Given the description of an element on the screen output the (x, y) to click on. 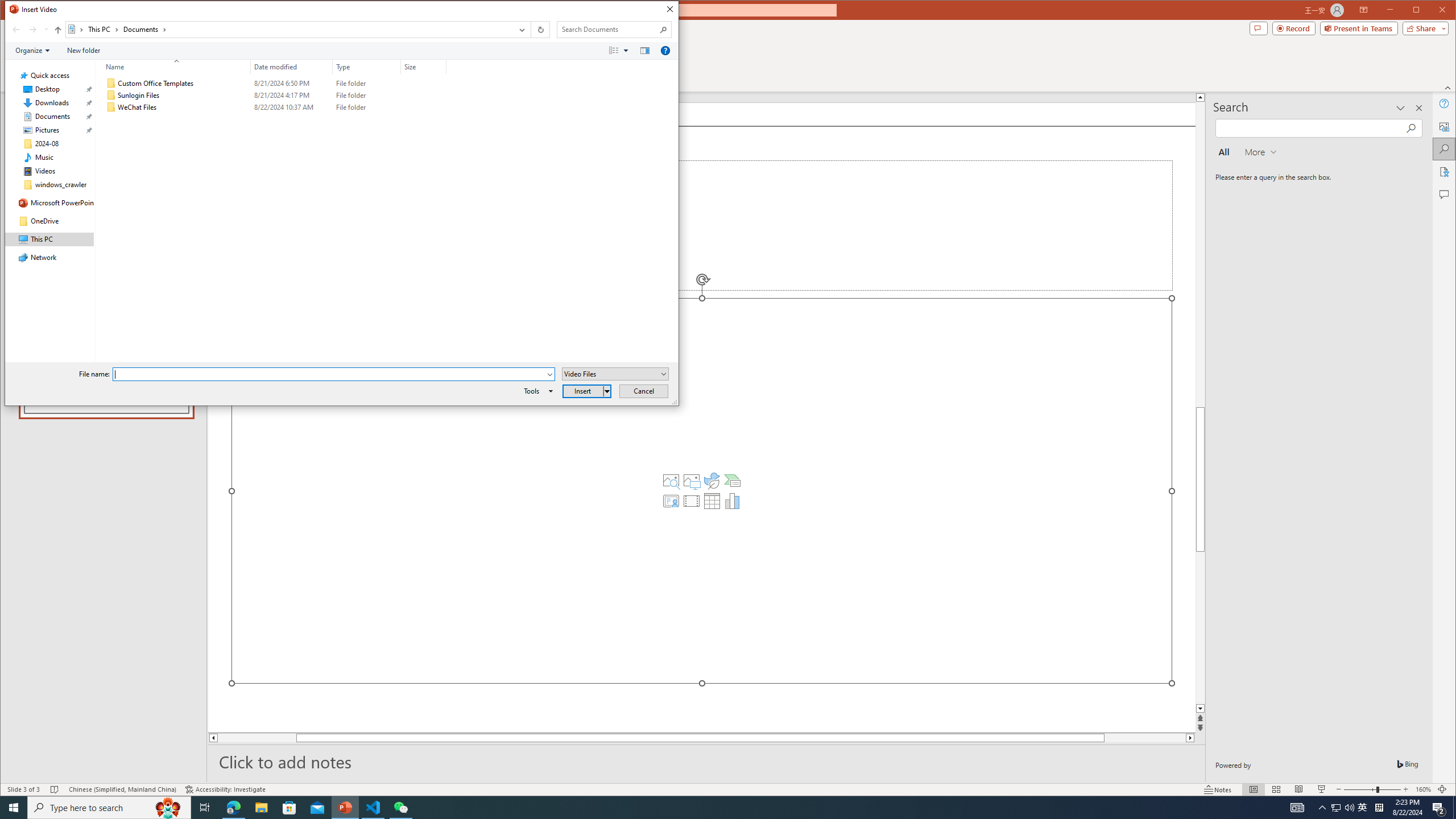
Microsoft Edge - 1 running window (233, 807)
Type (366, 66)
Date modified (291, 107)
Tools (536, 390)
